Given the description of an element on the screen output the (x, y) to click on. 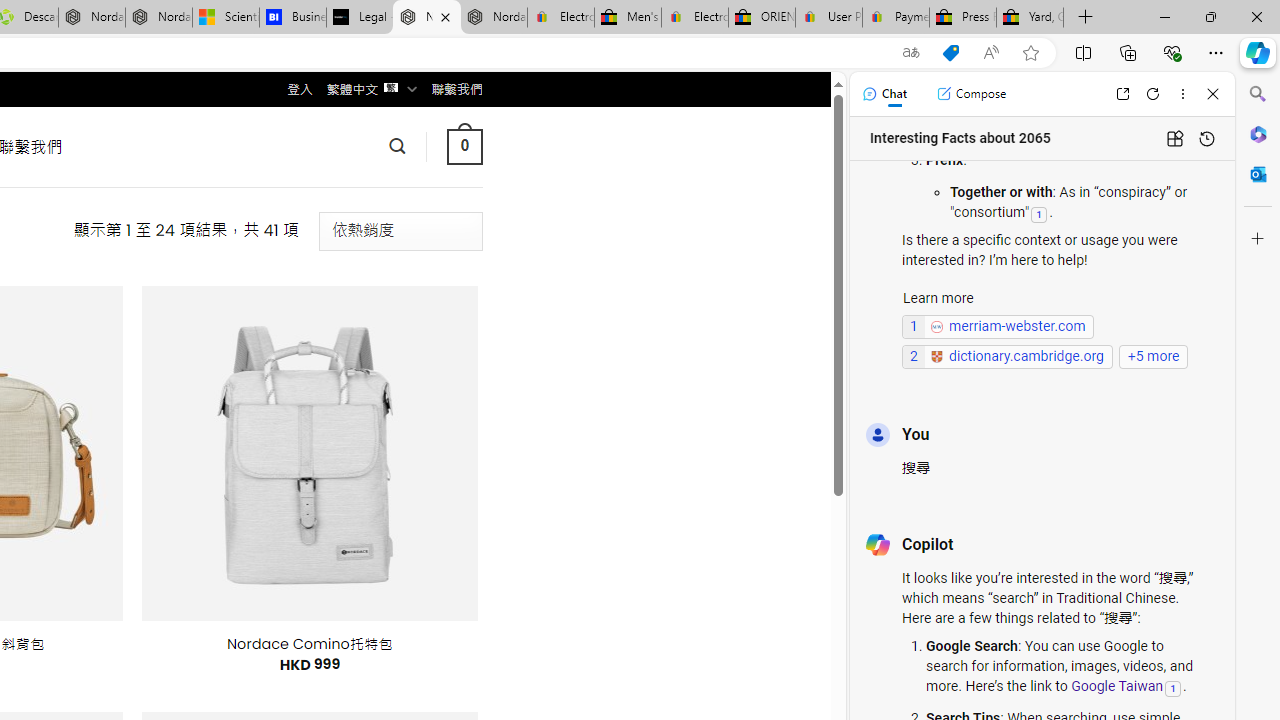
User Privacy Notice | eBay (828, 17)
